Given the description of an element on the screen output the (x, y) to click on. 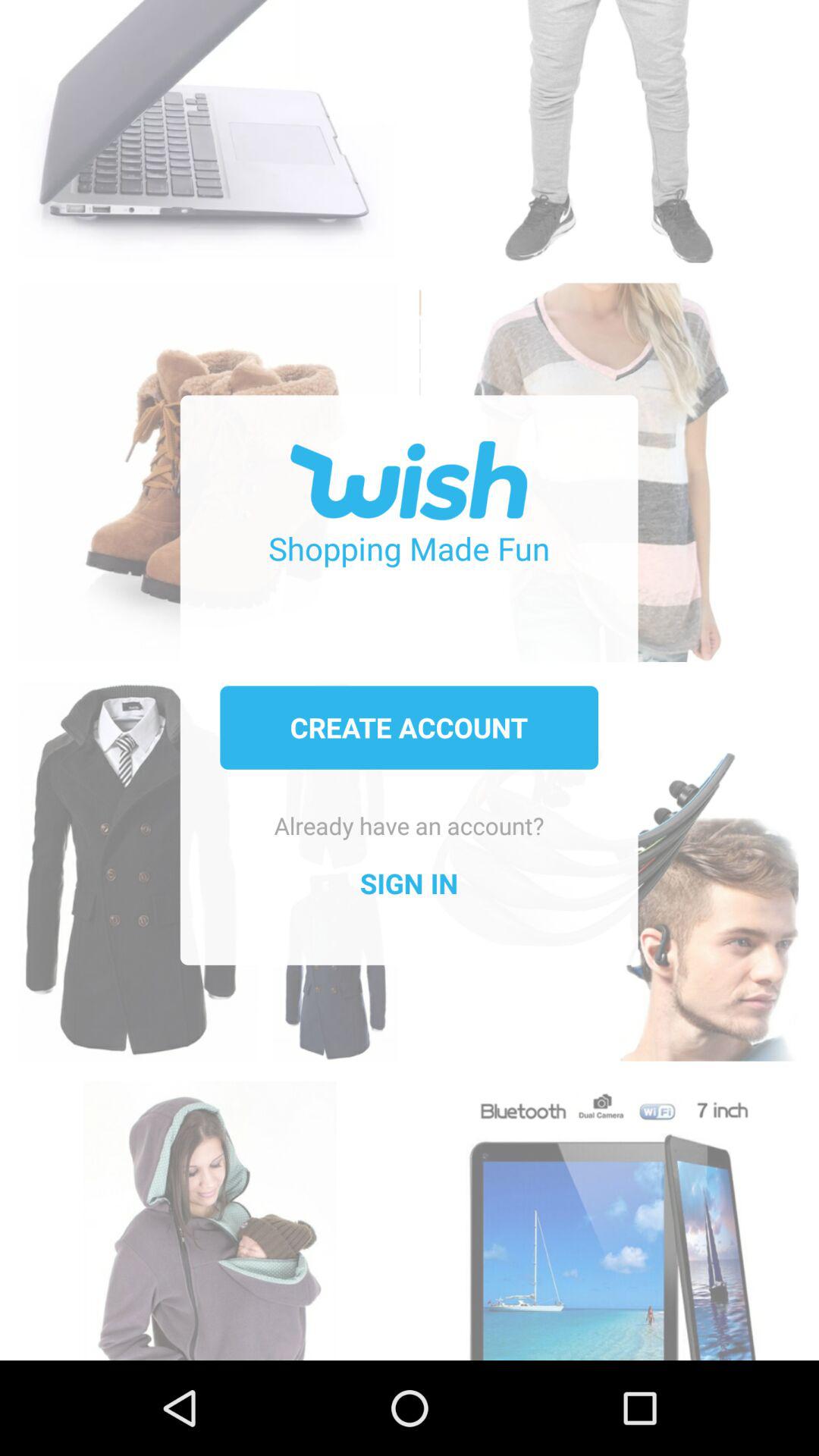
select icon at the bottom left corner (209, 1212)
